Given the description of an element on the screen output the (x, y) to click on. 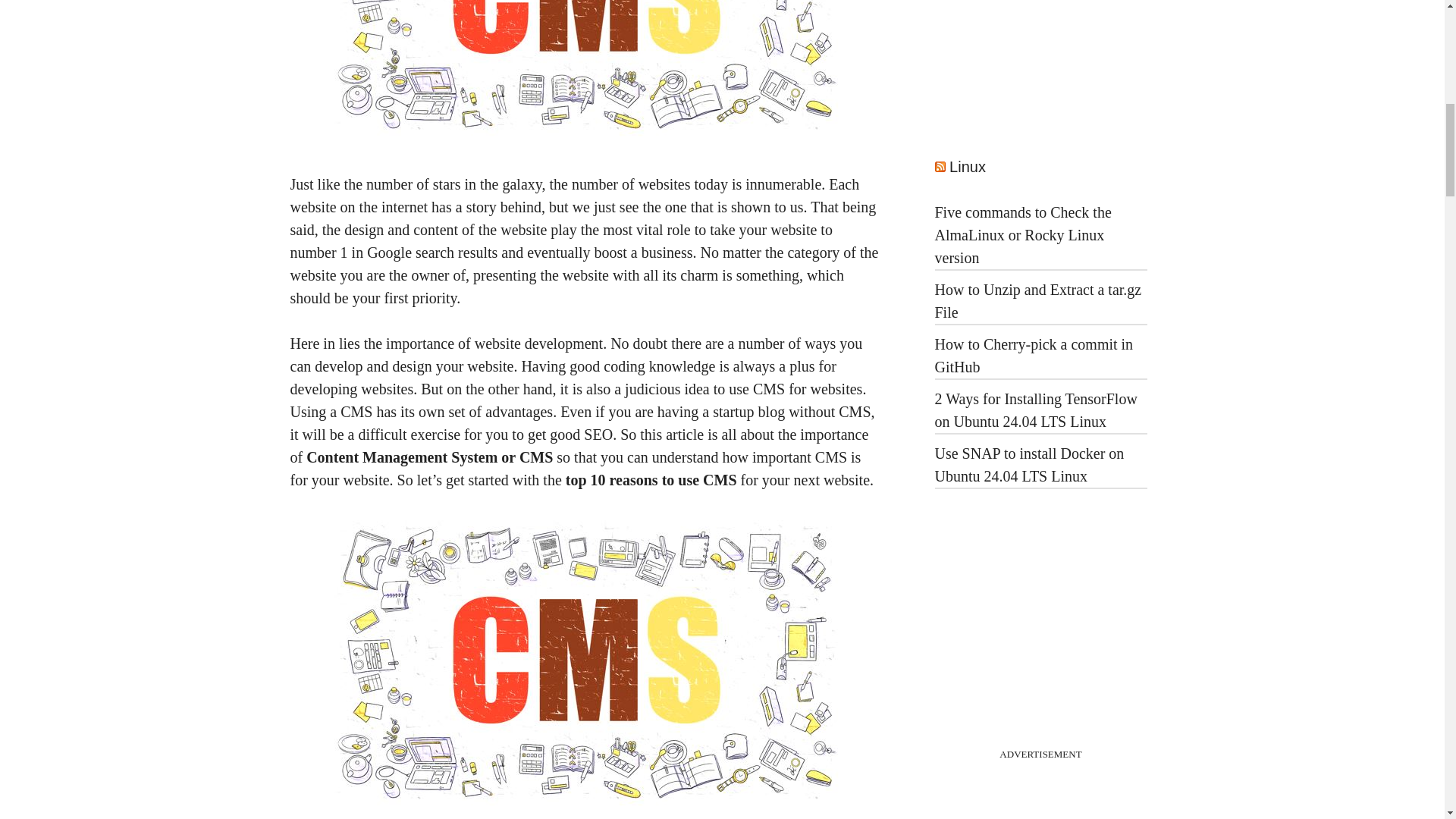
Scroll back to top (1406, 720)
